Given the description of an element on the screen output the (x, y) to click on. 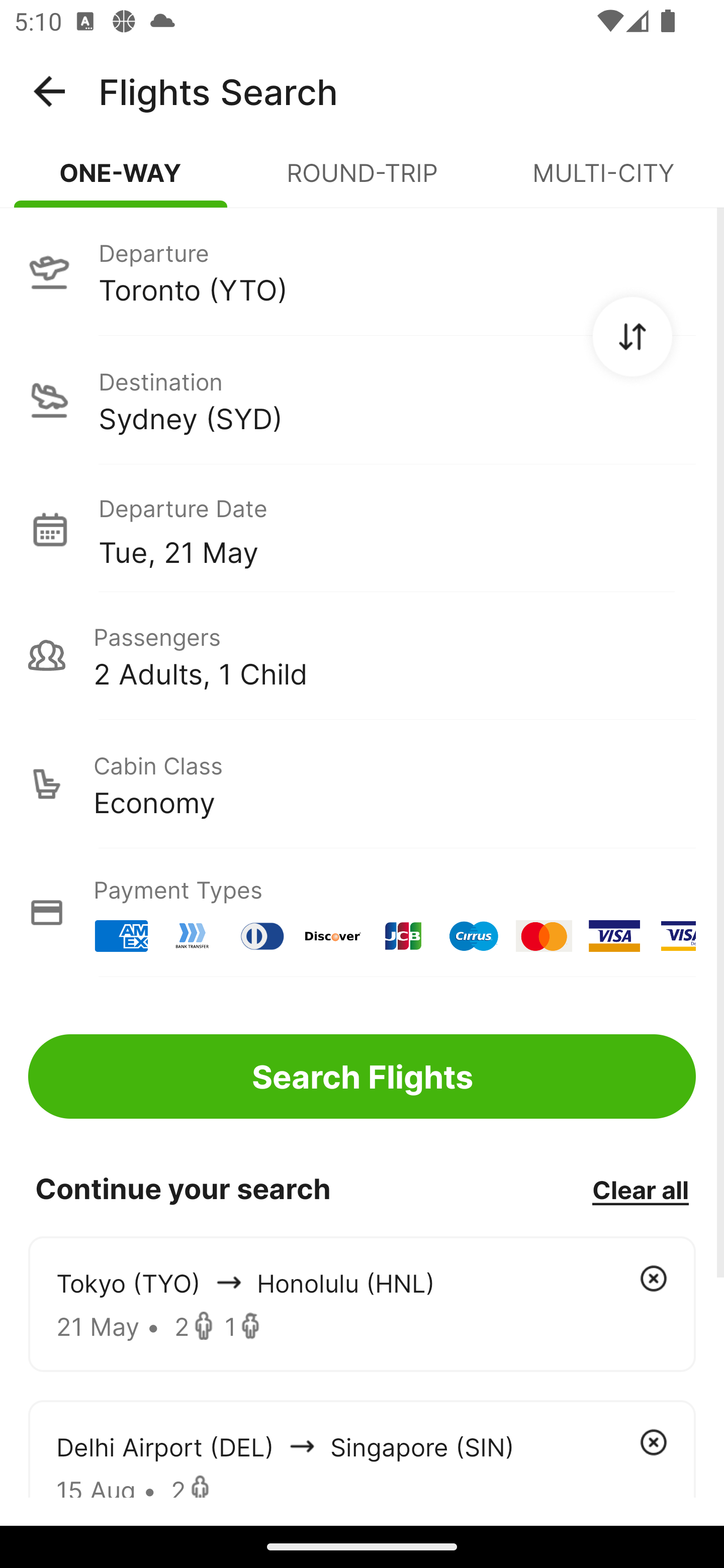
ONE-WAY (120, 180)
ROUND-TRIP (361, 180)
MULTI-CITY (603, 180)
Departure Toronto (YTO) (362, 270)
Destination Sydney (SYD) (362, 400)
Departure Date Tue, 21 May (396, 528)
Passengers 2 Adults, 1 Child (362, 655)
Cabin Class Economy (362, 783)
Payment Types (362, 912)
Search Flights (361, 1075)
Clear all (640, 1189)
